Given the description of an element on the screen output the (x, y) to click on. 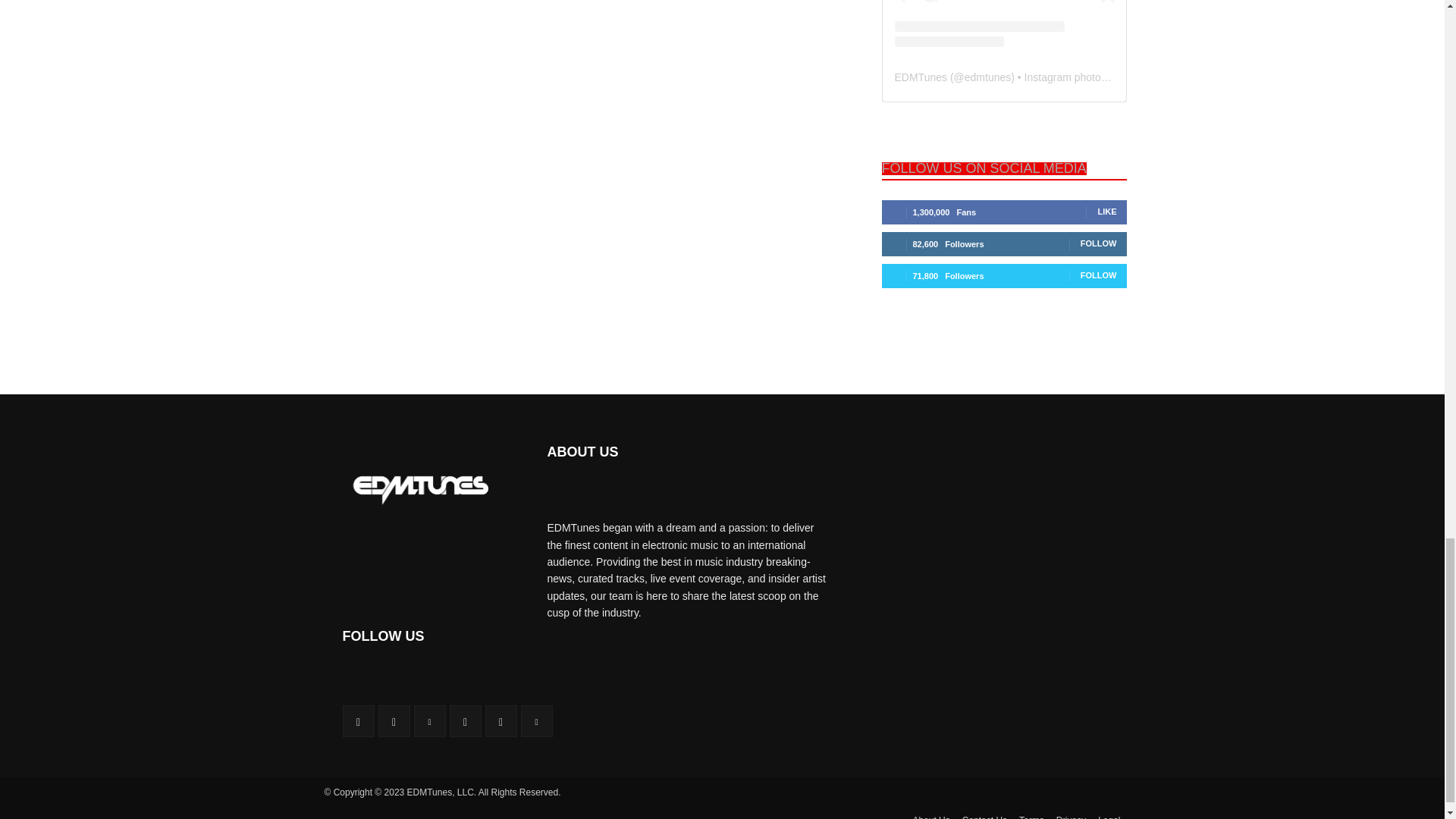
Facebook (358, 721)
Instagram (393, 721)
Pinterest (429, 721)
